Given the description of an element on the screen output the (x, y) to click on. 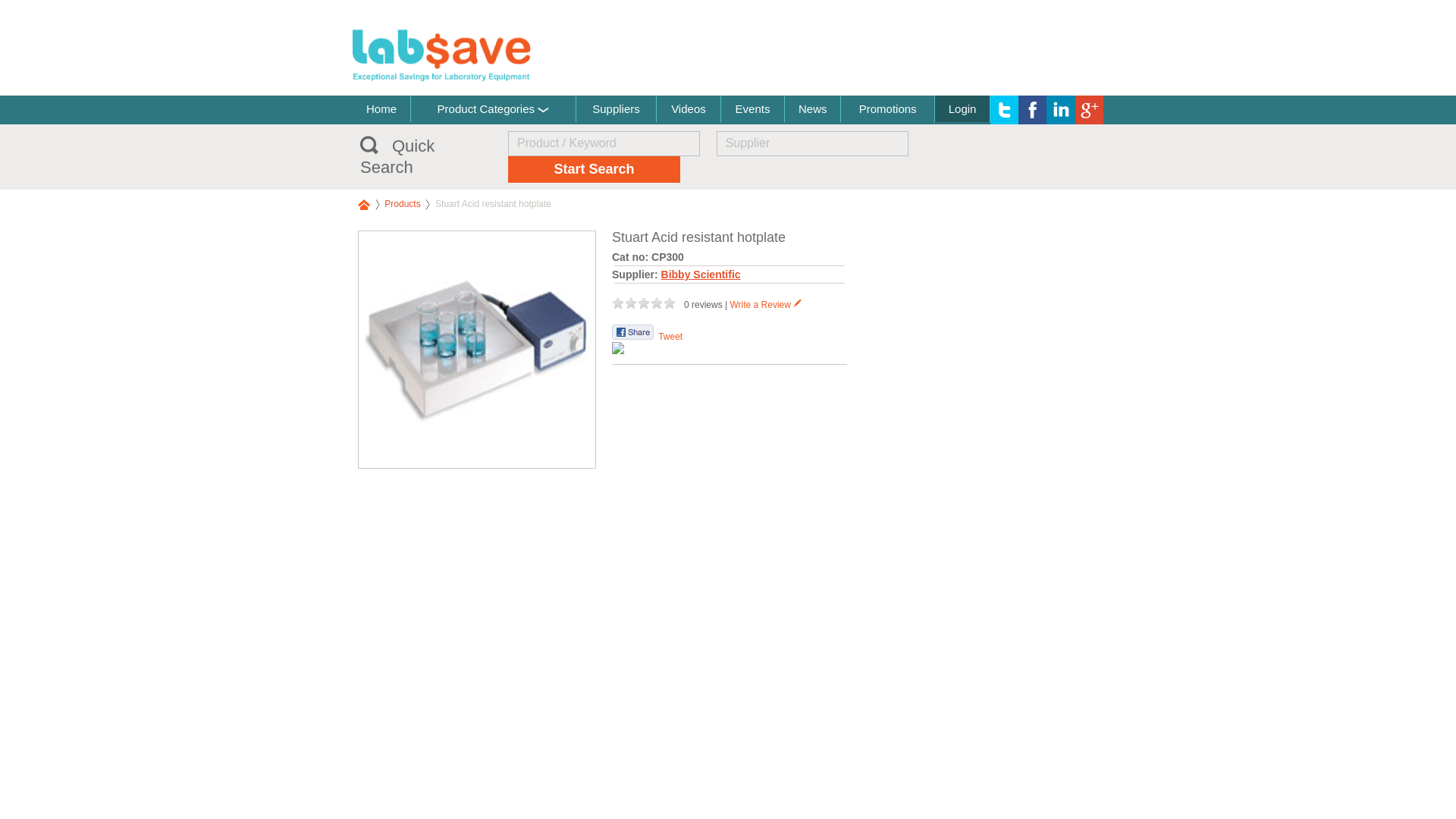
Promotions (887, 108)
Home (363, 204)
Suppliers (616, 108)
Login (962, 108)
Start Search (593, 169)
Home (381, 108)
Videos (687, 108)
Events (752, 108)
Bibby Scientific (701, 274)
Products (402, 204)
Write a Review (765, 304)
Start Search (593, 169)
Read More on Supplier Website (476, 464)
Product Categories (492, 108)
News (812, 108)
